Given the description of an element on the screen output the (x, y) to click on. 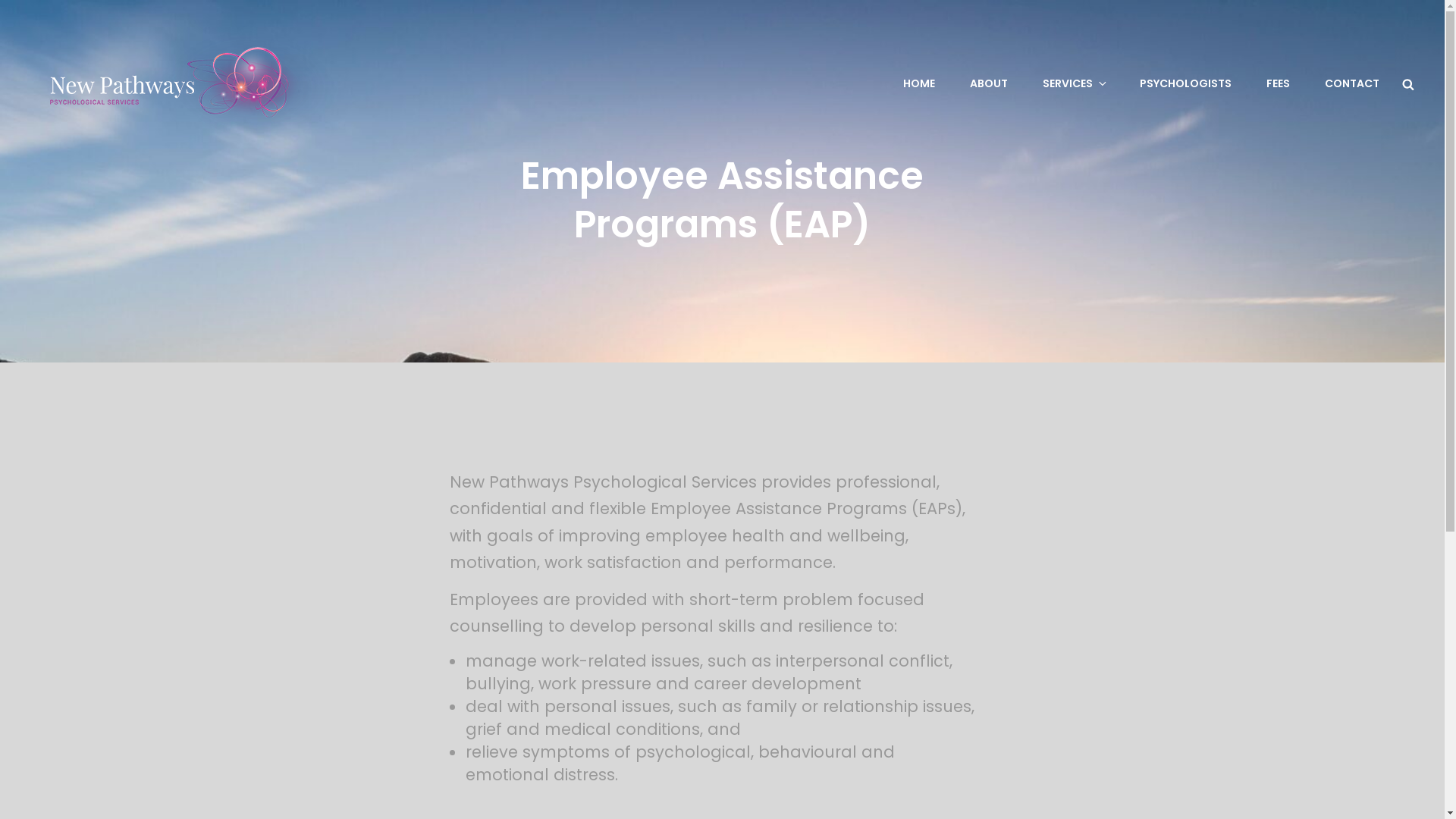
CONTACT Element type: text (1351, 83)
SERVICES Element type: text (1073, 83)
HOME Element type: text (919, 83)
FEES Element type: text (1278, 83)
PSYCHOLOGISTS Element type: text (1185, 83)
New Pathways Psychological Services Element type: text (529, 96)
Search Element type: text (1407, 83)
ABOUT Element type: text (988, 83)
